Given the description of an element on the screen output the (x, y) to click on. 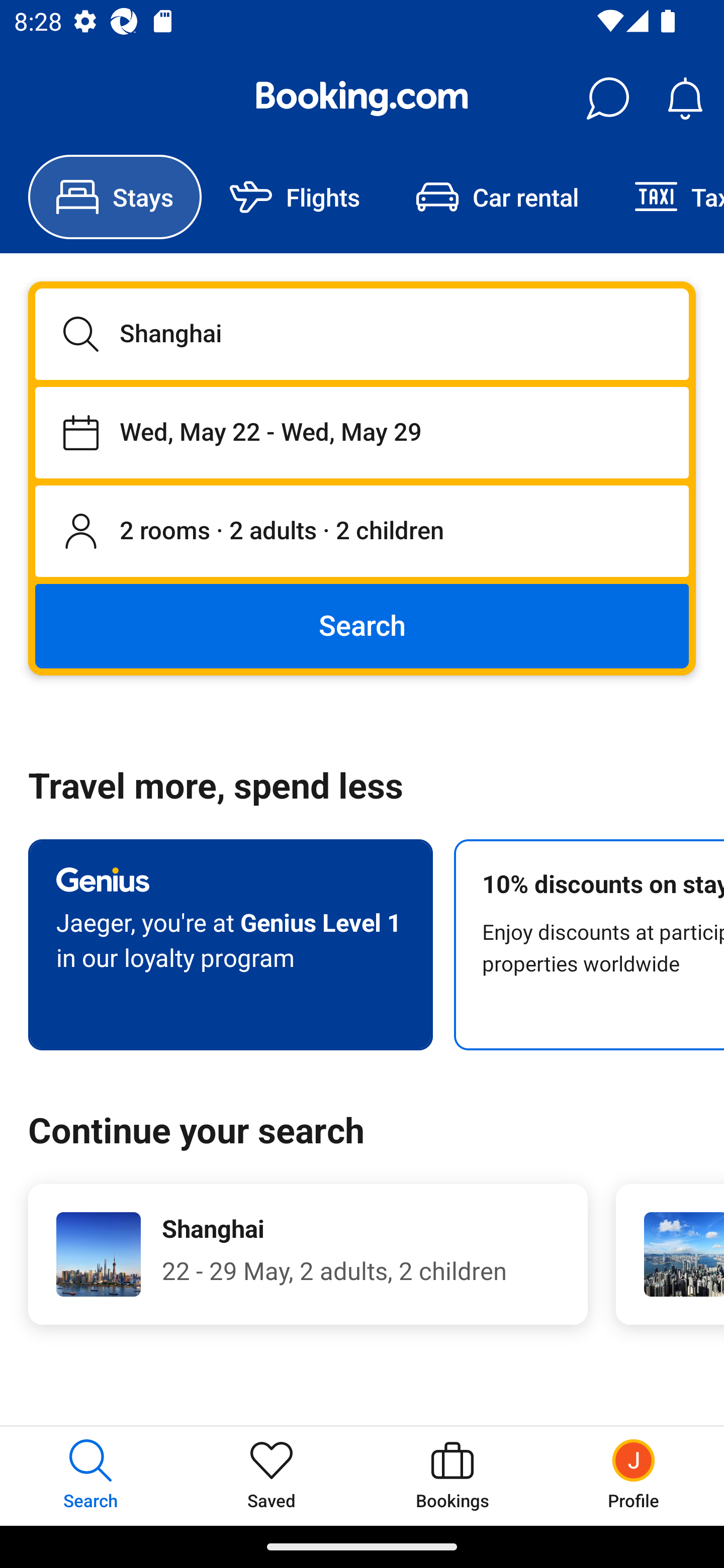
Messages (607, 98)
Notifications (685, 98)
Stays (114, 197)
Flights (294, 197)
Car rental (497, 197)
Taxi (665, 197)
Shanghai (361, 333)
Staying from Wed, May 22 until Wed, May 29 (361, 432)
2 rooms, 2 adults, 2 children (361, 531)
Search (361, 625)
Shanghai 22 - 29 May, 2 adults, 2 children (307, 1253)
Saved (271, 1475)
Bookings (452, 1475)
Profile (633, 1475)
